Given the description of an element on the screen output the (x, y) to click on. 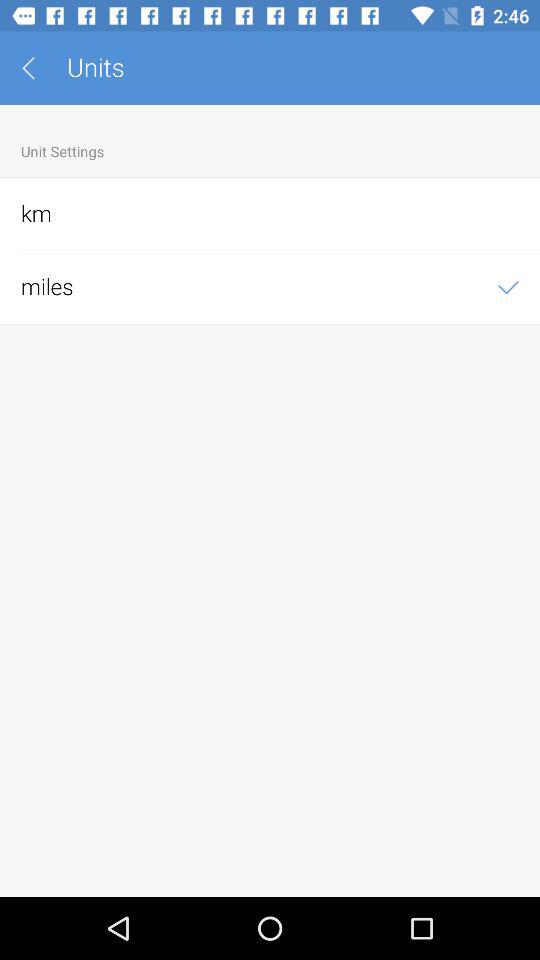
go back (35, 67)
